Given the description of an element on the screen output the (x, y) to click on. 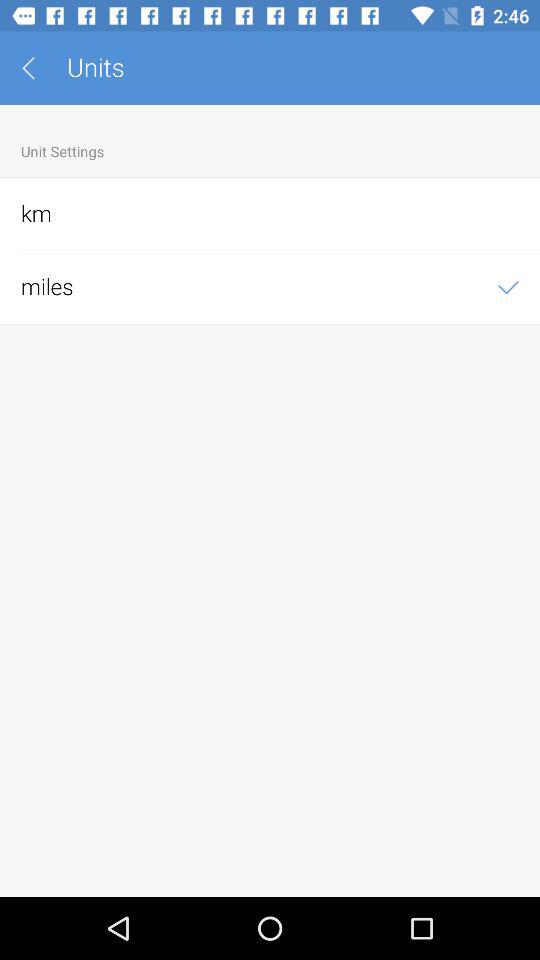
go back (35, 67)
